Given the description of an element on the screen output the (x, y) to click on. 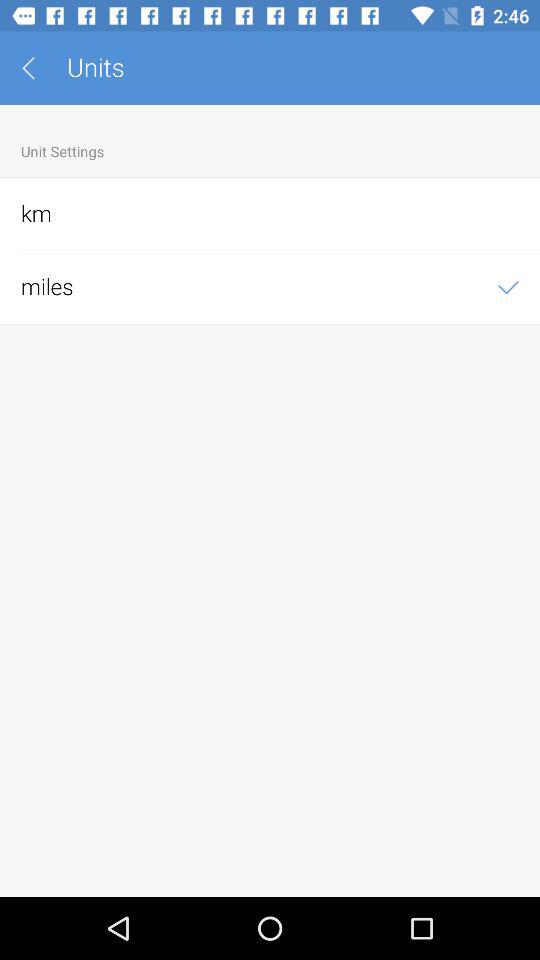
go back (35, 67)
